Given the description of an element on the screen output the (x, y) to click on. 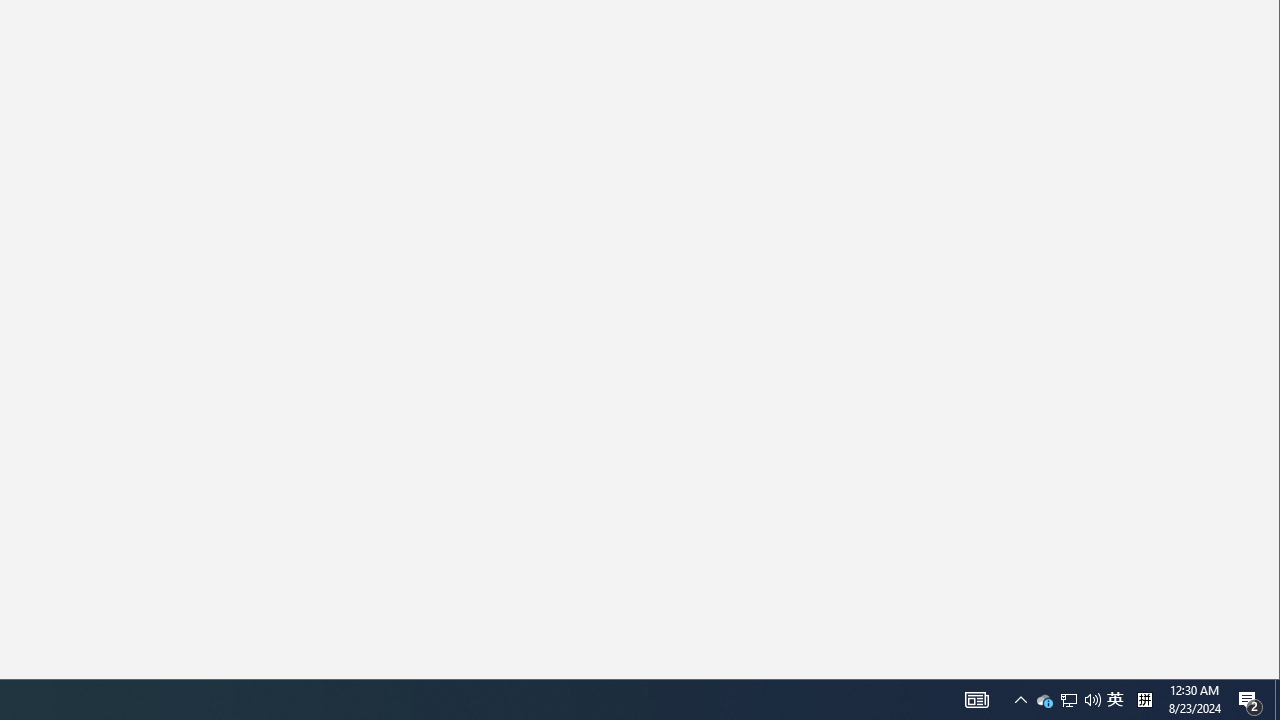
Show desktop (1115, 699)
AutomationID: 4105 (1277, 699)
User Promoted Notification Area (1069, 699)
Action Center, 2 new notifications (976, 699)
Notification Chevron (1068, 699)
Tray Input Indicator - Chinese (Simplified, China) (1044, 699)
Q2790: 100% (1250, 699)
